Given the description of an element on the screen output the (x, y) to click on. 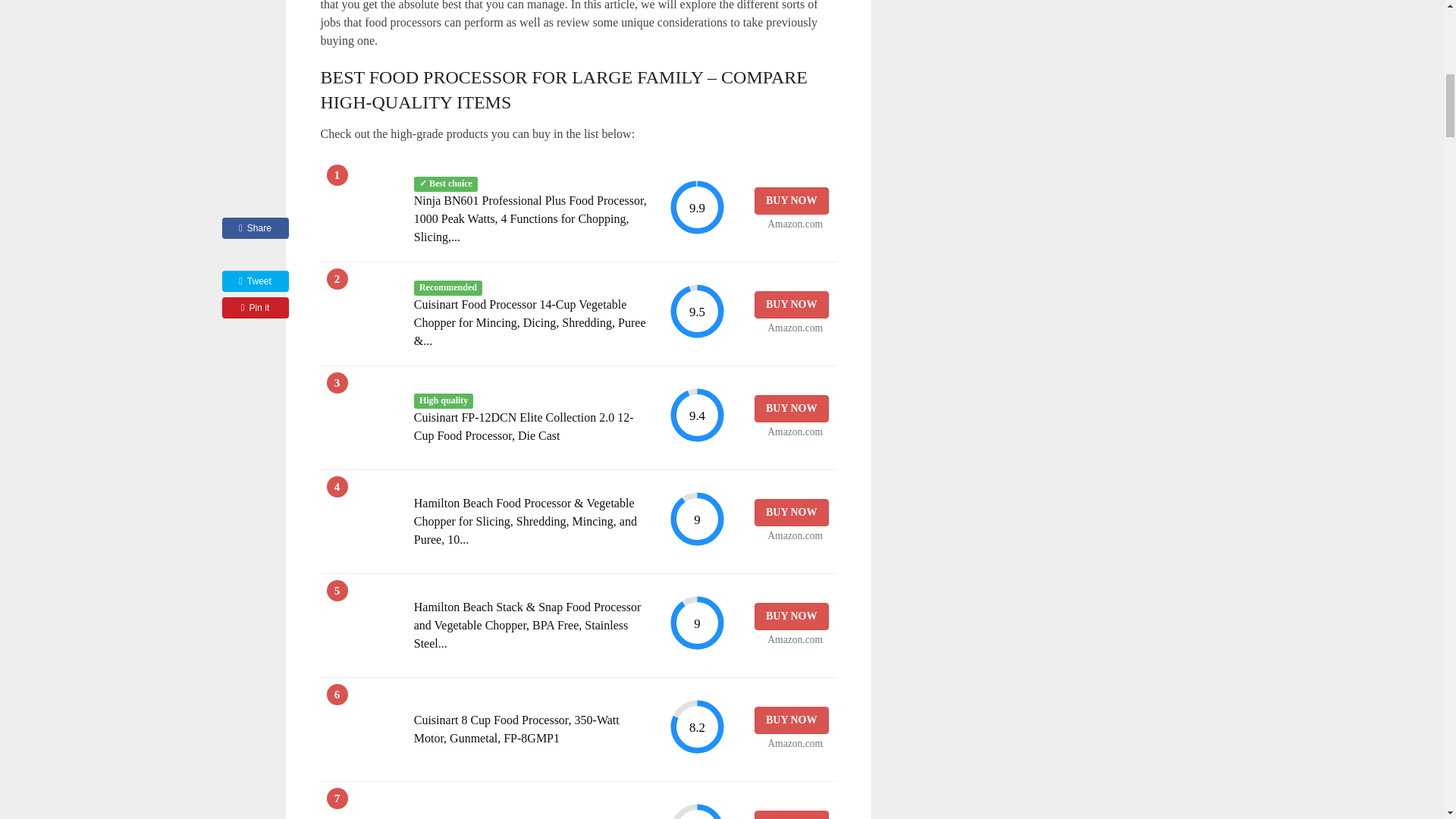
9 (696, 622)
9.9 (696, 207)
9.4 (696, 414)
8.2 (696, 726)
9.5 (696, 310)
9 (696, 518)
8.2 (696, 810)
